Given the description of an element on the screen output the (x, y) to click on. 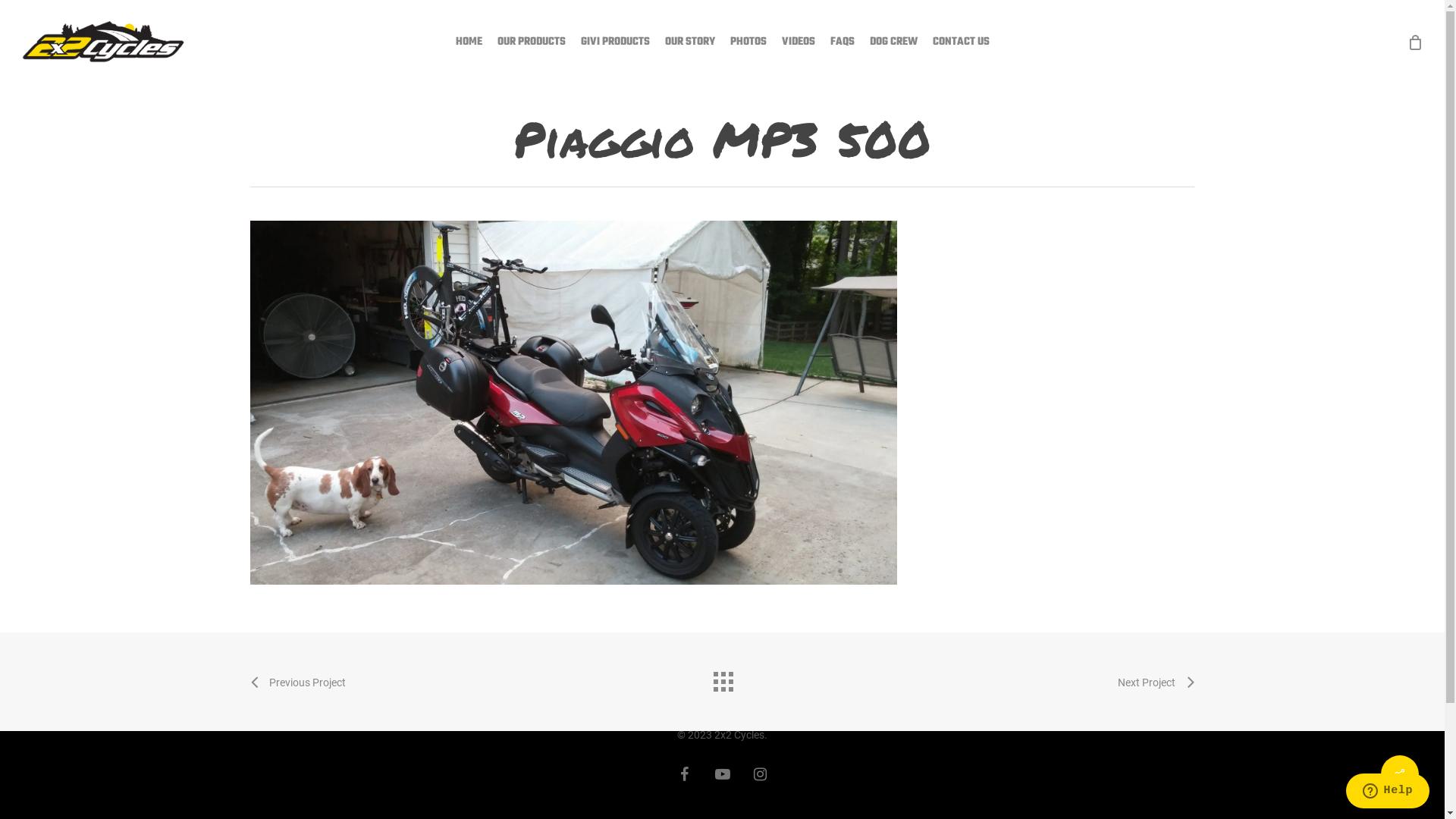
Our Affiliate Program Element type: text (541, 603)
GIVI PRODUCTS Element type: text (614, 41)
PHOTOS Element type: text (747, 41)
OUR STORY Element type: text (689, 41)
VIDEOS Element type: text (797, 41)
OUR PRODUCTS Element type: text (531, 41)
DOG CREW Element type: text (892, 41)
youtube Element type: text (722, 773)
Next Project Element type: text (1155, 682)
CONTACT US Element type: text (960, 41)
HOME Element type: text (468, 41)
FAQS Element type: text (841, 41)
Opens a widget where you can chat to one of our agents Element type: hover (1387, 792)
Back to all projects Element type: hover (721, 677)
instagram Element type: text (760, 773)
Previous Project Element type: text (297, 682)
facebook Element type: text (684, 773)
